Given the description of an element on the screen output the (x, y) to click on. 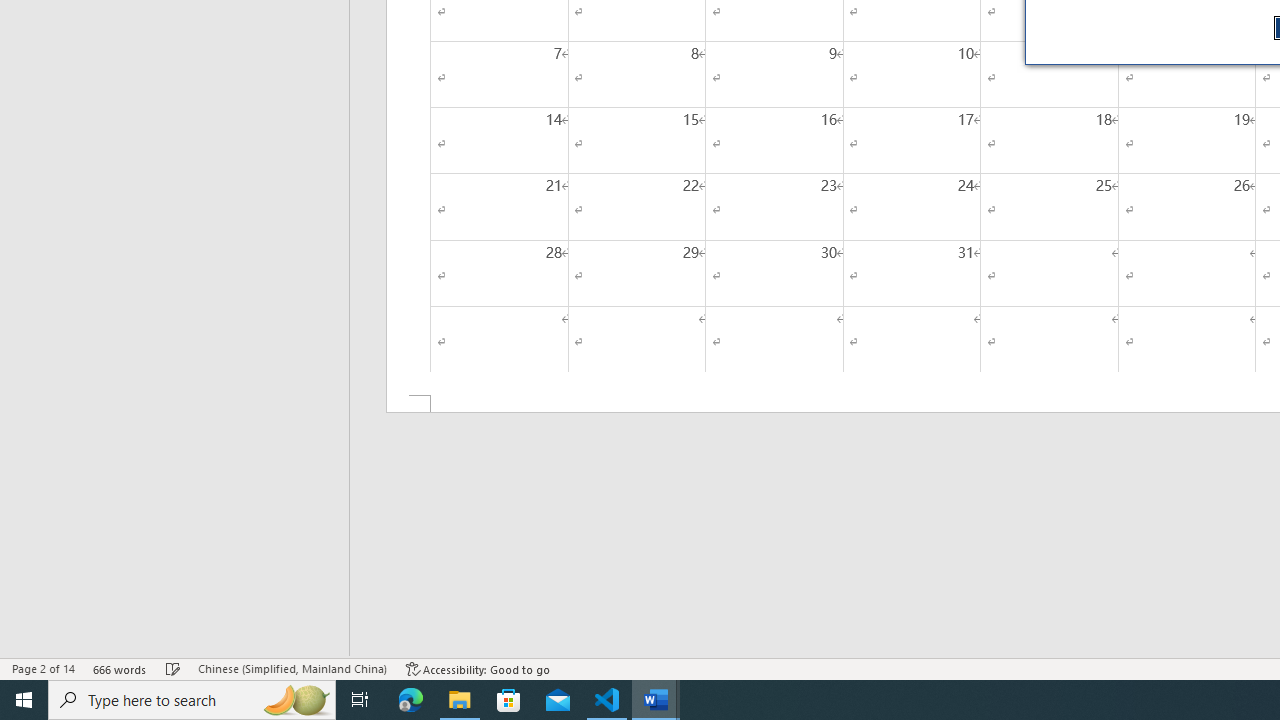
Spelling and Grammar Check Checking (173, 668)
Accessibility Checker Accessibility: Good to go (478, 668)
Microsoft Store (509, 699)
Word - 2 running windows (656, 699)
Word Count 666 words (119, 668)
Task View (359, 699)
Page Number Page 2 of 14 (43, 668)
File Explorer - 1 running window (460, 699)
Start (24, 699)
Search highlights icon opens search home window (295, 699)
Type here to search (191, 699)
Language Chinese (Simplified, Mainland China) (292, 668)
Visual Studio Code - 1 running window (607, 699)
Microsoft Edge (411, 699)
